Given the description of an element on the screen output the (x, y) to click on. 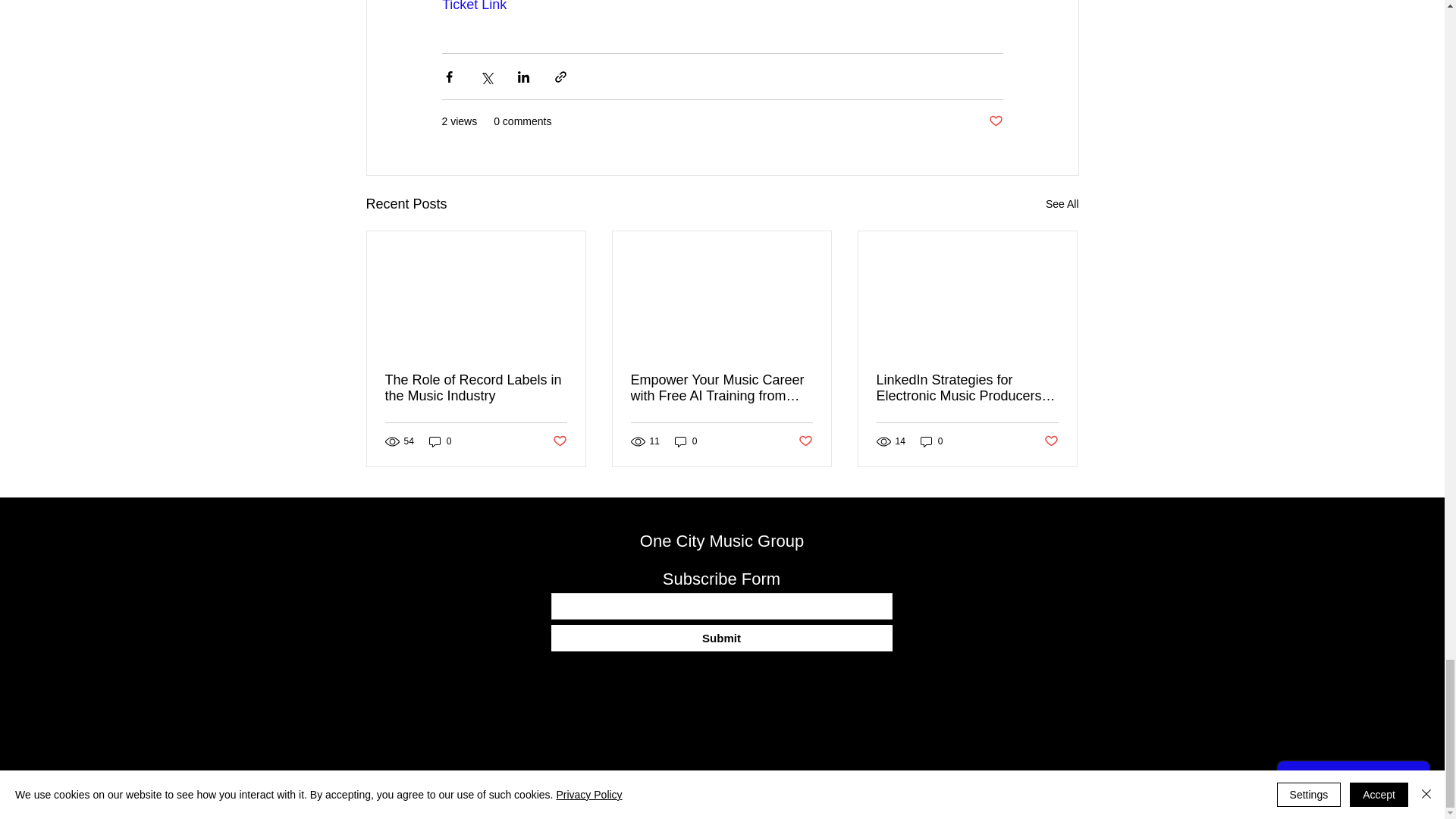
Post not marked as liked (995, 121)
The Role of Record Labels in the Music Industry (476, 388)
Ticket Link (473, 6)
See All (1061, 204)
0 (440, 441)
Post not marked as liked (558, 441)
